Given the description of an element on the screen output the (x, y) to click on. 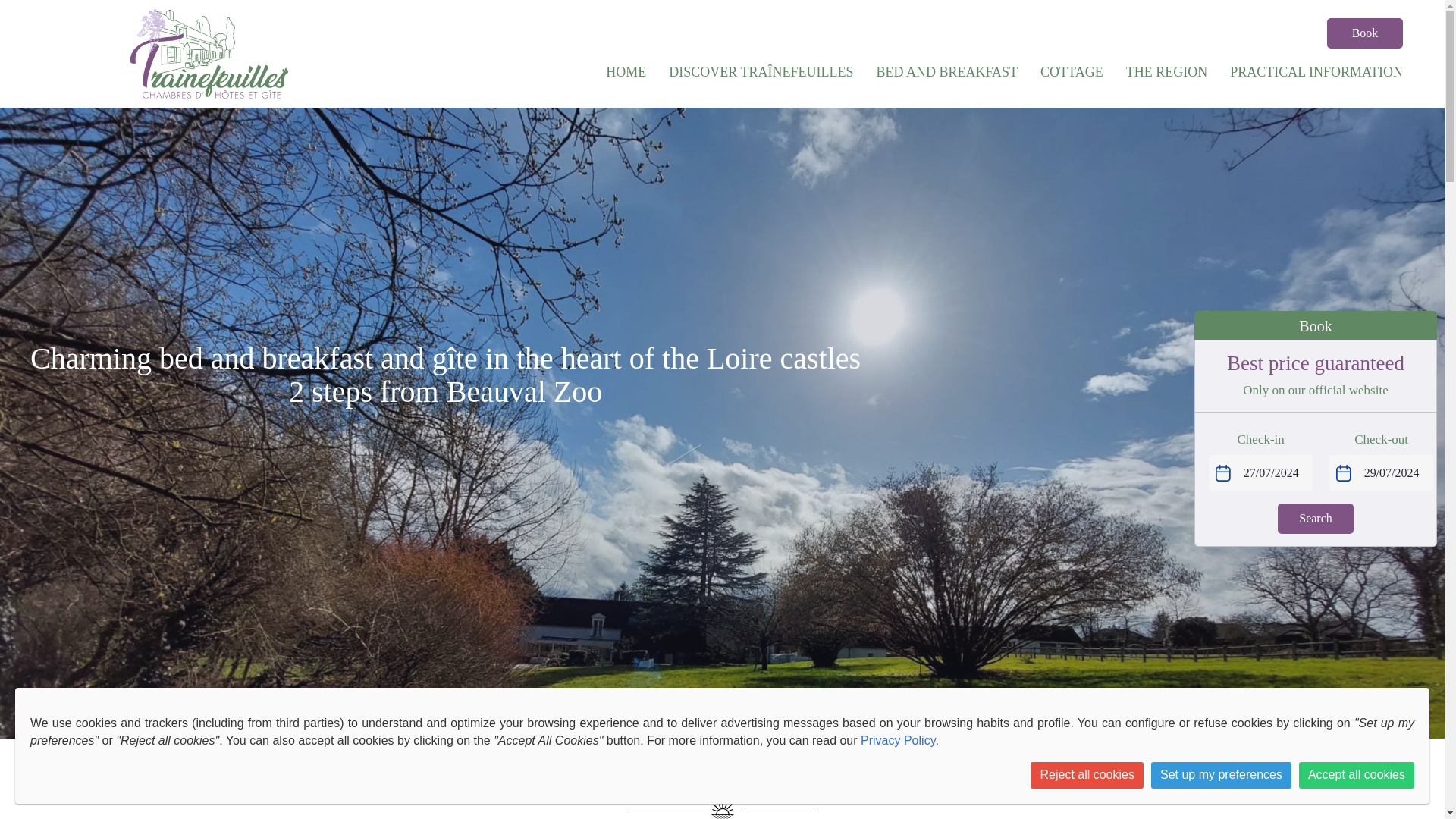
THE REGION (1166, 71)
HOME (625, 71)
COTTAGE (1072, 71)
Book (1364, 33)
PRACTICAL INFORMATION (1316, 71)
Search (1316, 518)
BED AND BREAKFAST (946, 71)
